Given the description of an element on the screen output the (x, y) to click on. 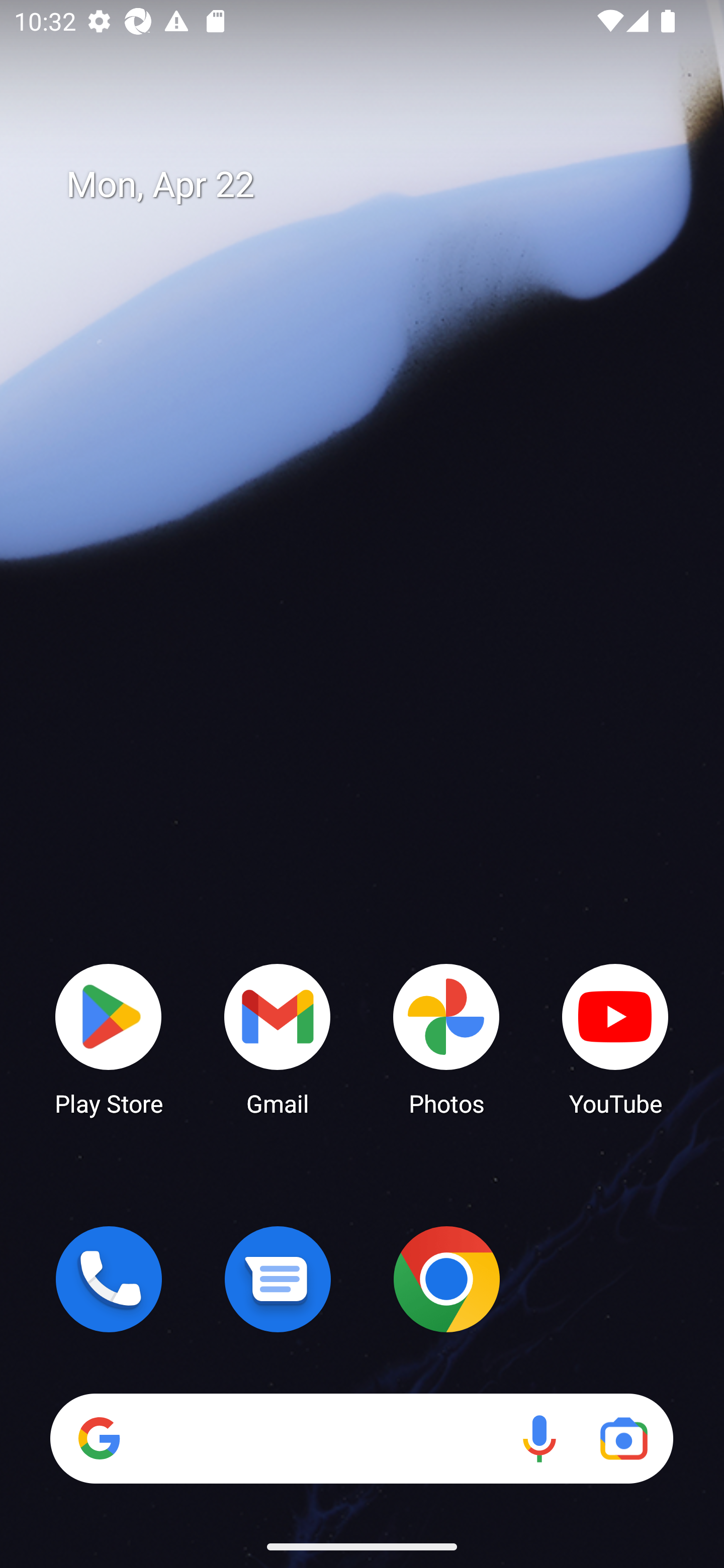
Mon, Apr 22 (375, 184)
Play Store (108, 1038)
Gmail (277, 1038)
Photos (445, 1038)
YouTube (615, 1038)
Phone (108, 1279)
Messages (277, 1279)
Chrome (446, 1279)
Search Voice search Google Lens (361, 1438)
Voice search (539, 1438)
Google Lens (623, 1438)
